Given the description of an element on the screen output the (x, y) to click on. 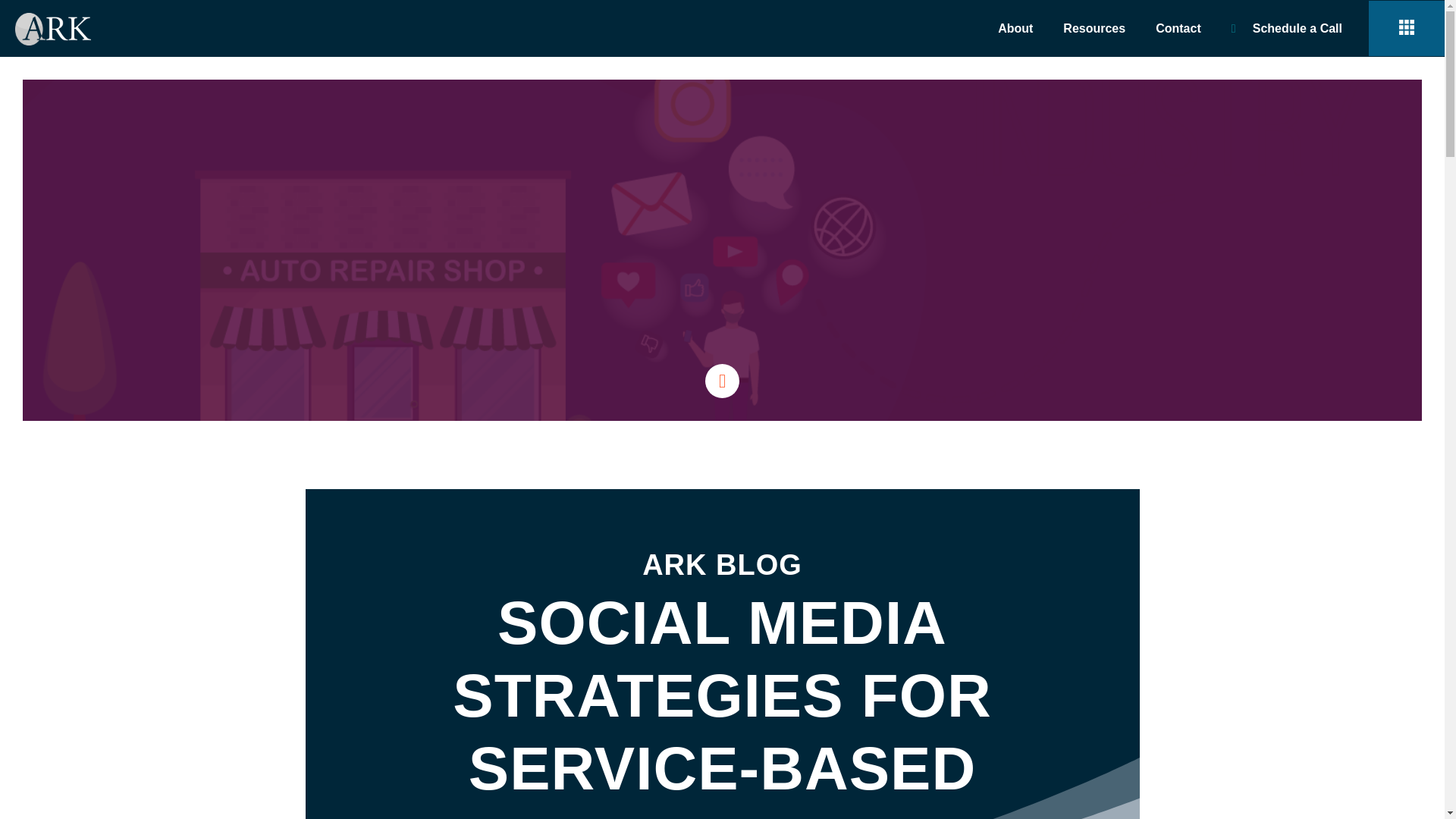
Contact (1177, 28)
Resources (1094, 28)
Schedule a Call (1285, 28)
About (1015, 28)
